Given the description of an element on the screen output the (x, y) to click on. 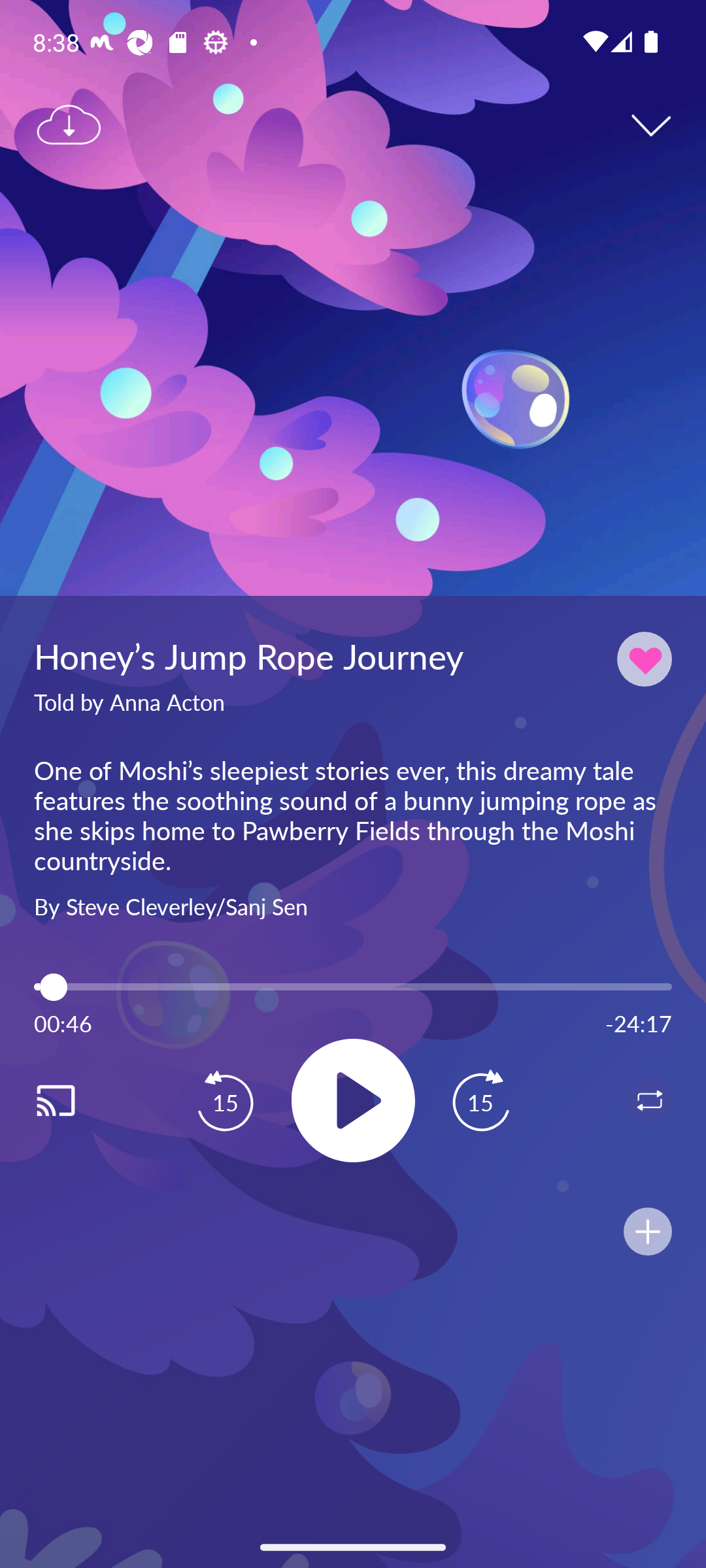
46.0 (352, 986)
Cast. Disconnected (76, 1100)
